Given the description of an element on the screen output the (x, y) to click on. 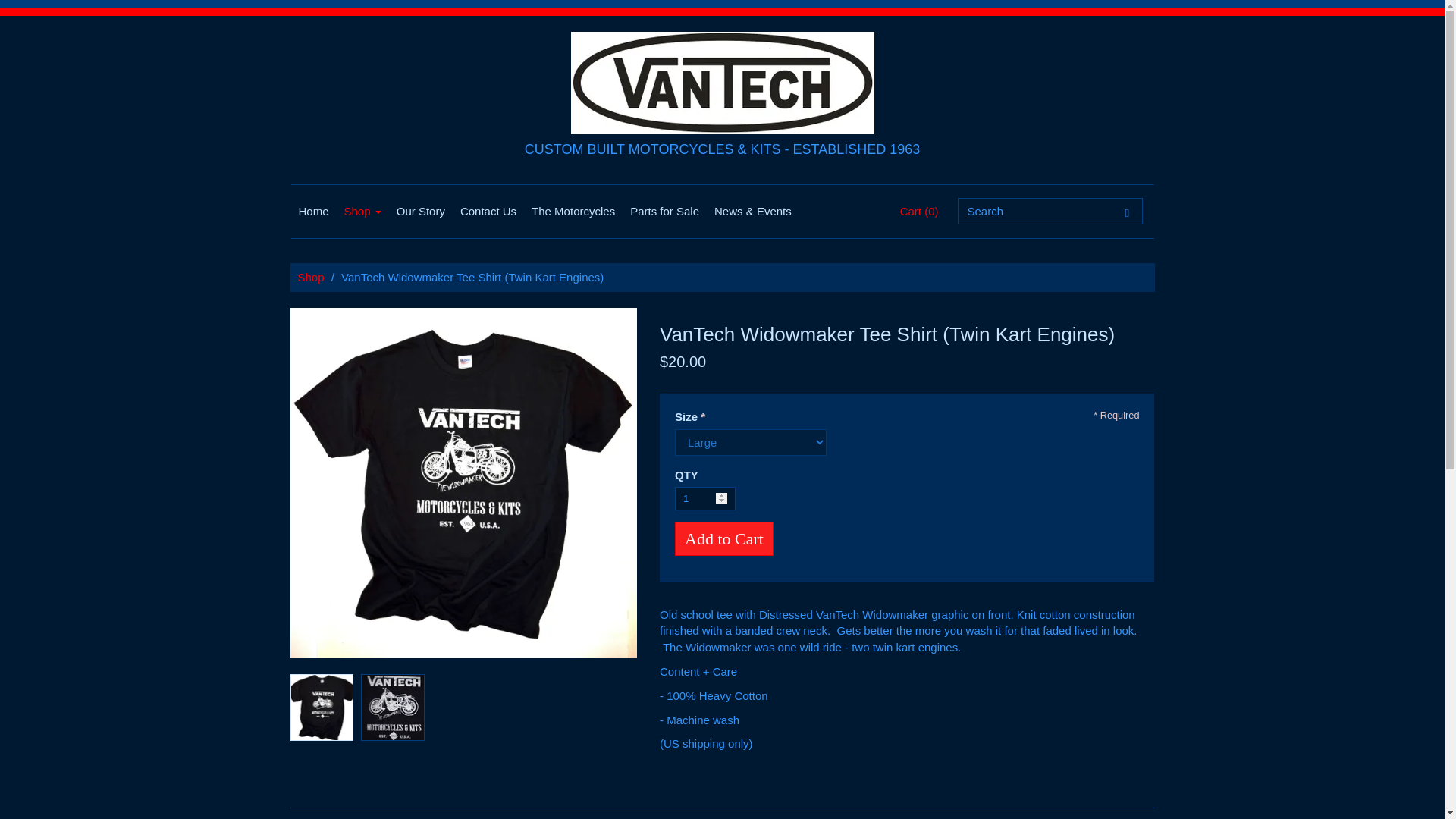
Add to Cart (724, 538)
Add to Cart (724, 538)
Shop (362, 211)
Shop (310, 277)
The Motorcycles (573, 211)
Parts for Sale (664, 211)
Contact Us (488, 211)
Our Story (420, 211)
1 (705, 498)
